Given the description of an element on the screen output the (x, y) to click on. 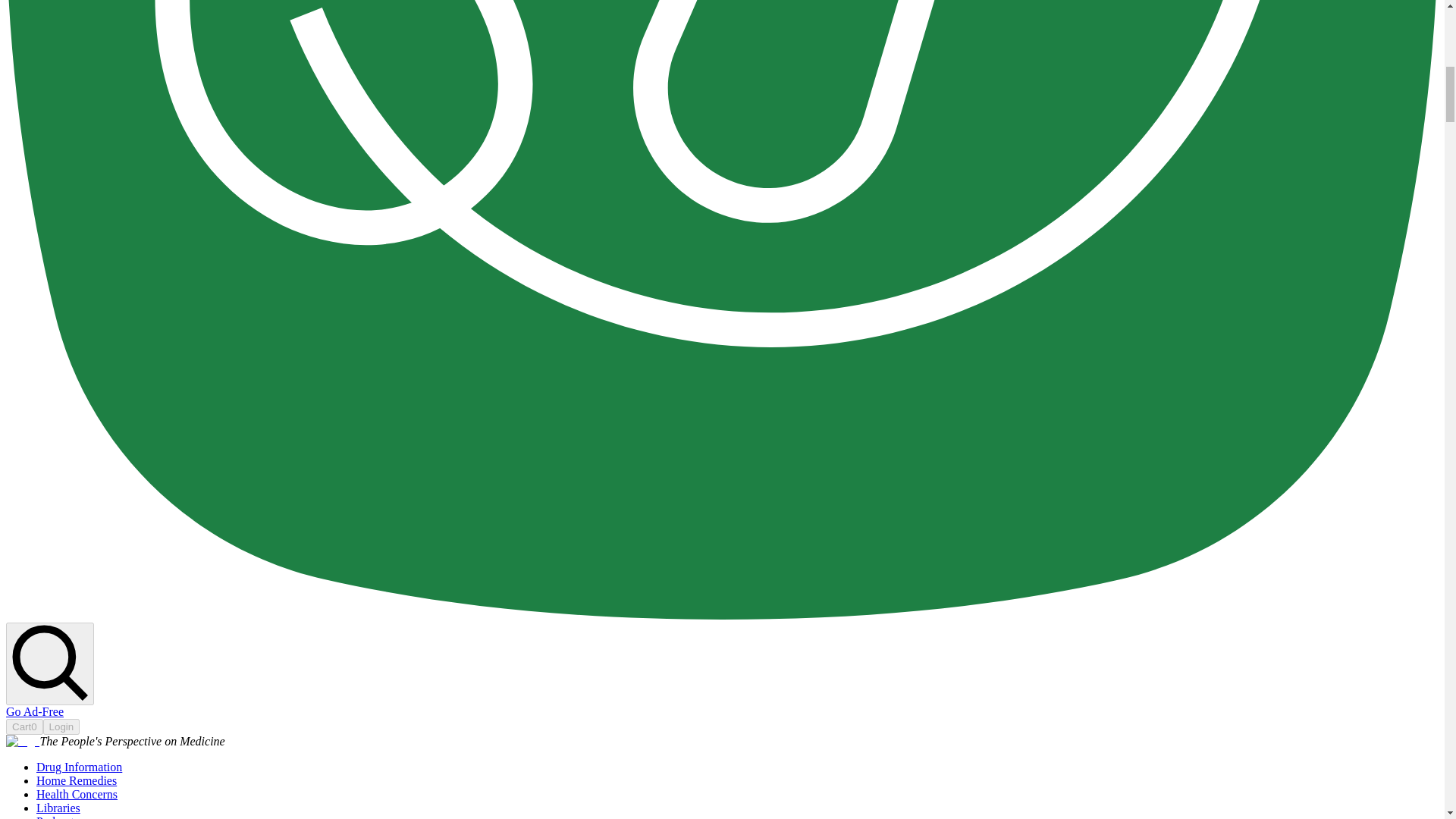
Libraries (58, 807)
Health Concerns (76, 793)
Drug Information (79, 766)
Podcasts (57, 816)
Login (61, 726)
Cart0 (24, 726)
Home Remedies (76, 780)
